Given the description of an element on the screen output the (x, y) to click on. 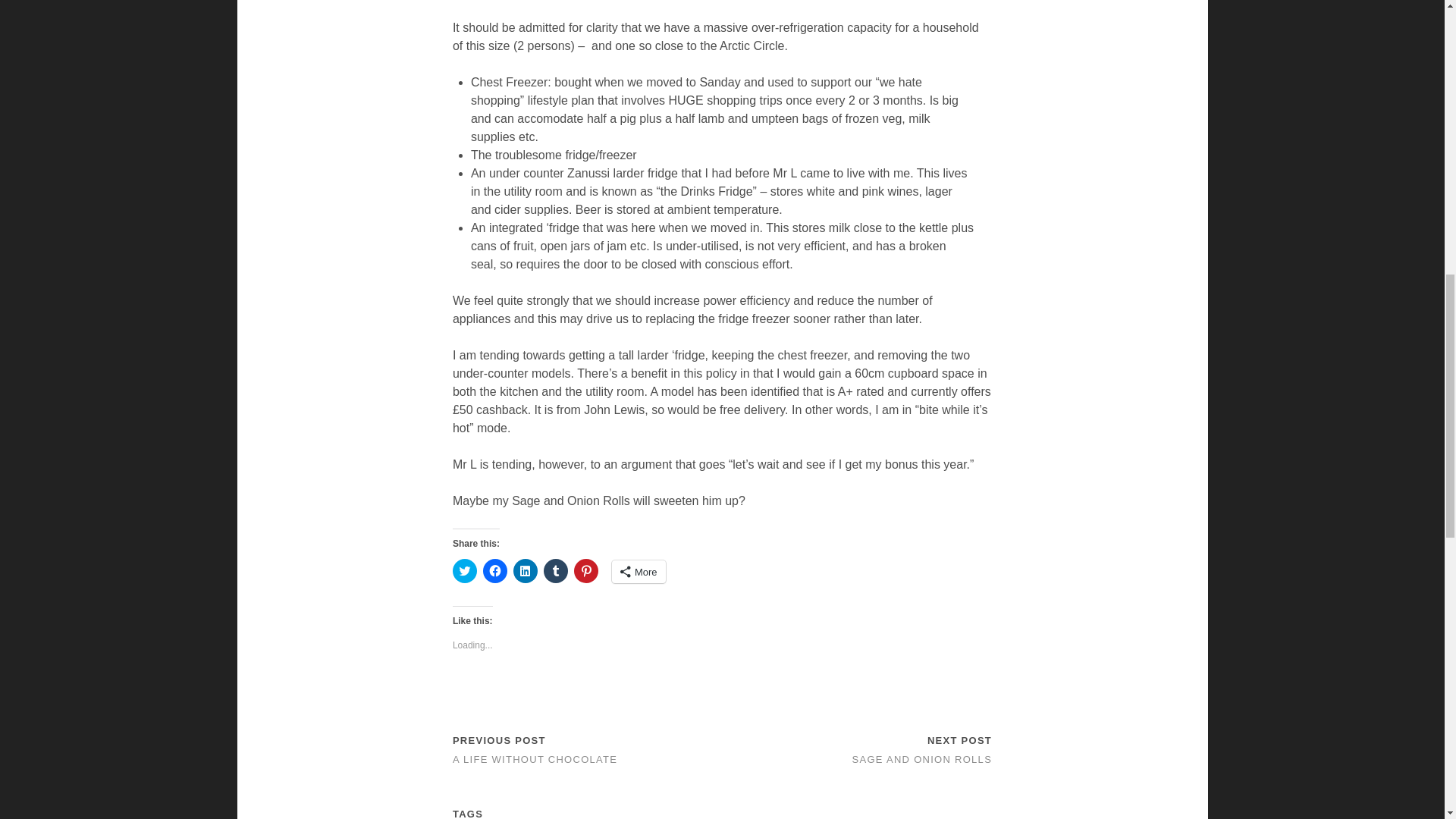
More (638, 571)
Click to share on Pinterest (585, 570)
SAGE AND ONION ROLLS (921, 758)
Click to share on Facebook (494, 570)
Click to share on Tumblr (555, 570)
A LIFE WITHOUT CHOCOLATE (534, 758)
Click to share on LinkedIn (525, 570)
Click to share on Twitter (464, 570)
